Given the description of an element on the screen output the (x, y) to click on. 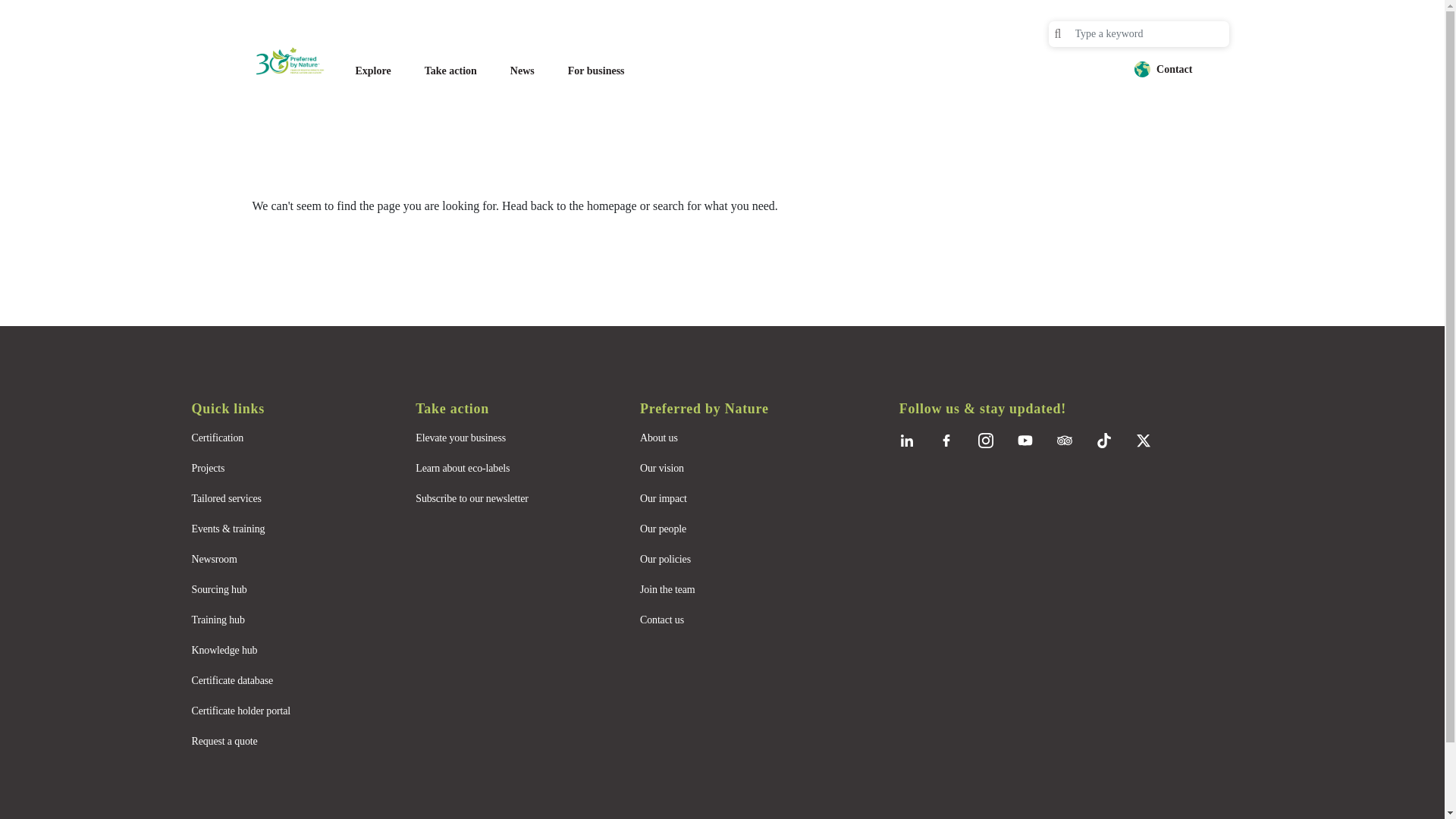
Search (1057, 33)
For Business (595, 70)
Home (296, 60)
